Given the description of an element on the screen output the (x, y) to click on. 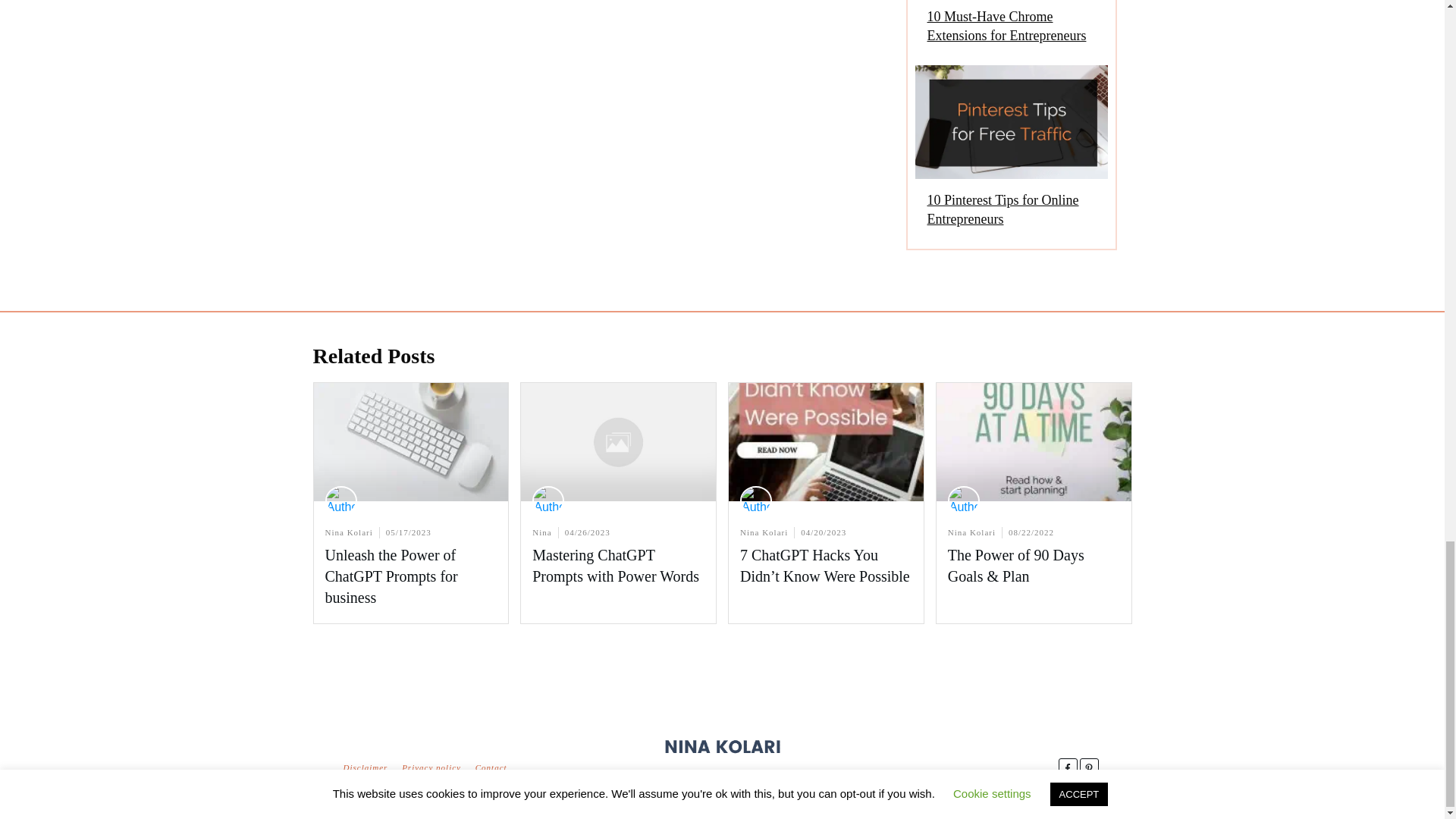
Unleash the Power of ChatGPT Prompts for business (390, 576)
10 Must-Have Chrome Extensions for Entrepreneurs (1006, 26)
Mastering ChatGPT Prompts with Power Words (615, 565)
10 Pinterest Tips for Online Entrepreneurs (1010, 152)
Unleash the Power of ChatGPT Prompts for business (390, 576)
10 Pinterest Tips for Online Entrepreneurs (1002, 209)
10 Must-Have Chrome Extensions for Entrepreneurs (1006, 26)
10 Must-Have Chrome Extensions for Entrepreneurs (1010, 28)
Mastering ChatGPT Prompts with Power Words (615, 565)
10 Pinterest Tips for Online Entrepreneurs (1002, 209)
